Given the description of an element on the screen output the (x, y) to click on. 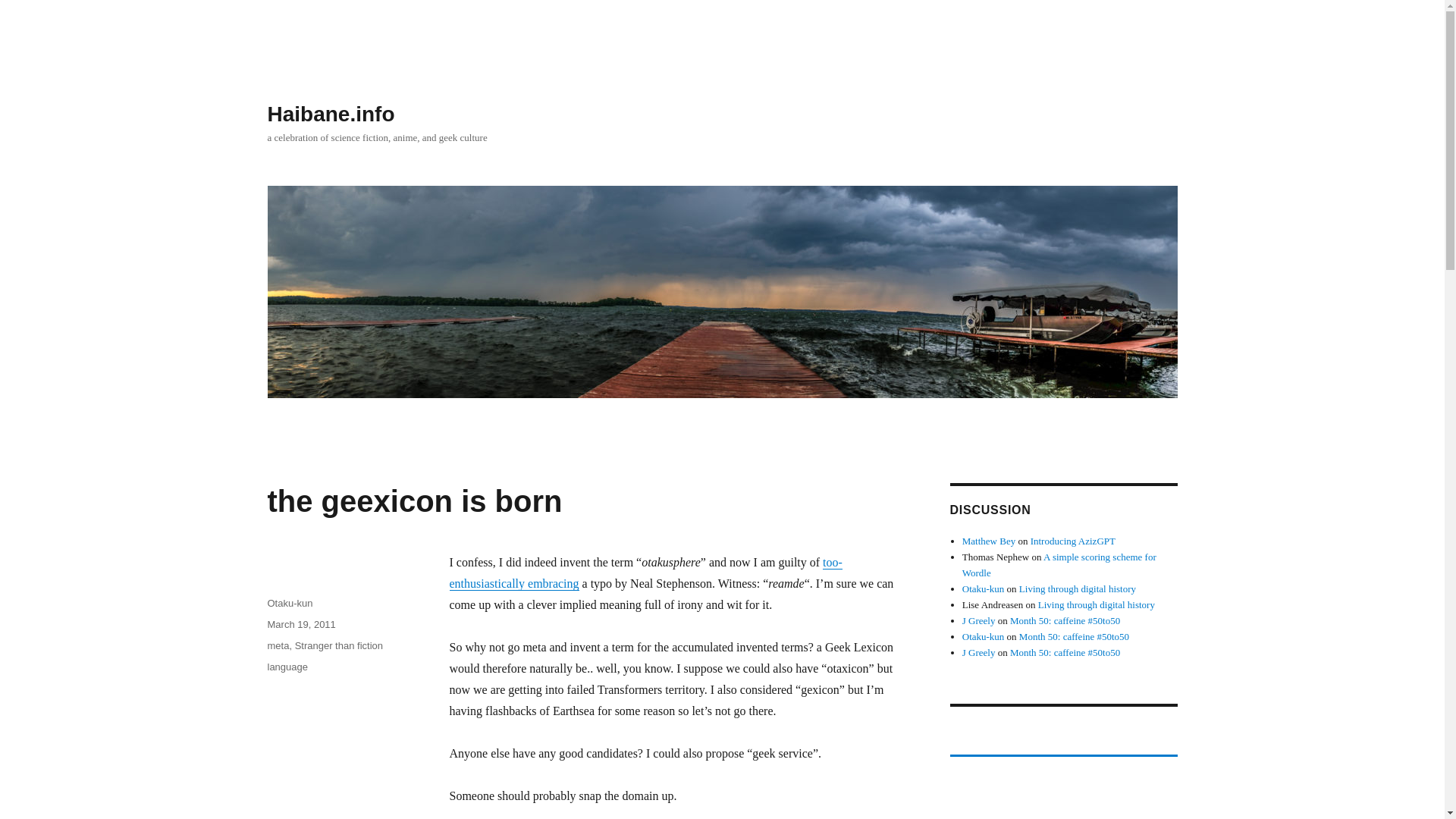
Living through digital history (1096, 604)
March 19, 2011 (300, 624)
Introducing AzizGPT (1072, 541)
J Greely (978, 620)
Haibane.info (330, 114)
meta (277, 645)
A simple scoring scheme for Wordle (1059, 564)
Living through digital history (1077, 588)
Stranger than fiction (338, 645)
J Greely (978, 652)
